Given the description of an element on the screen output the (x, y) to click on. 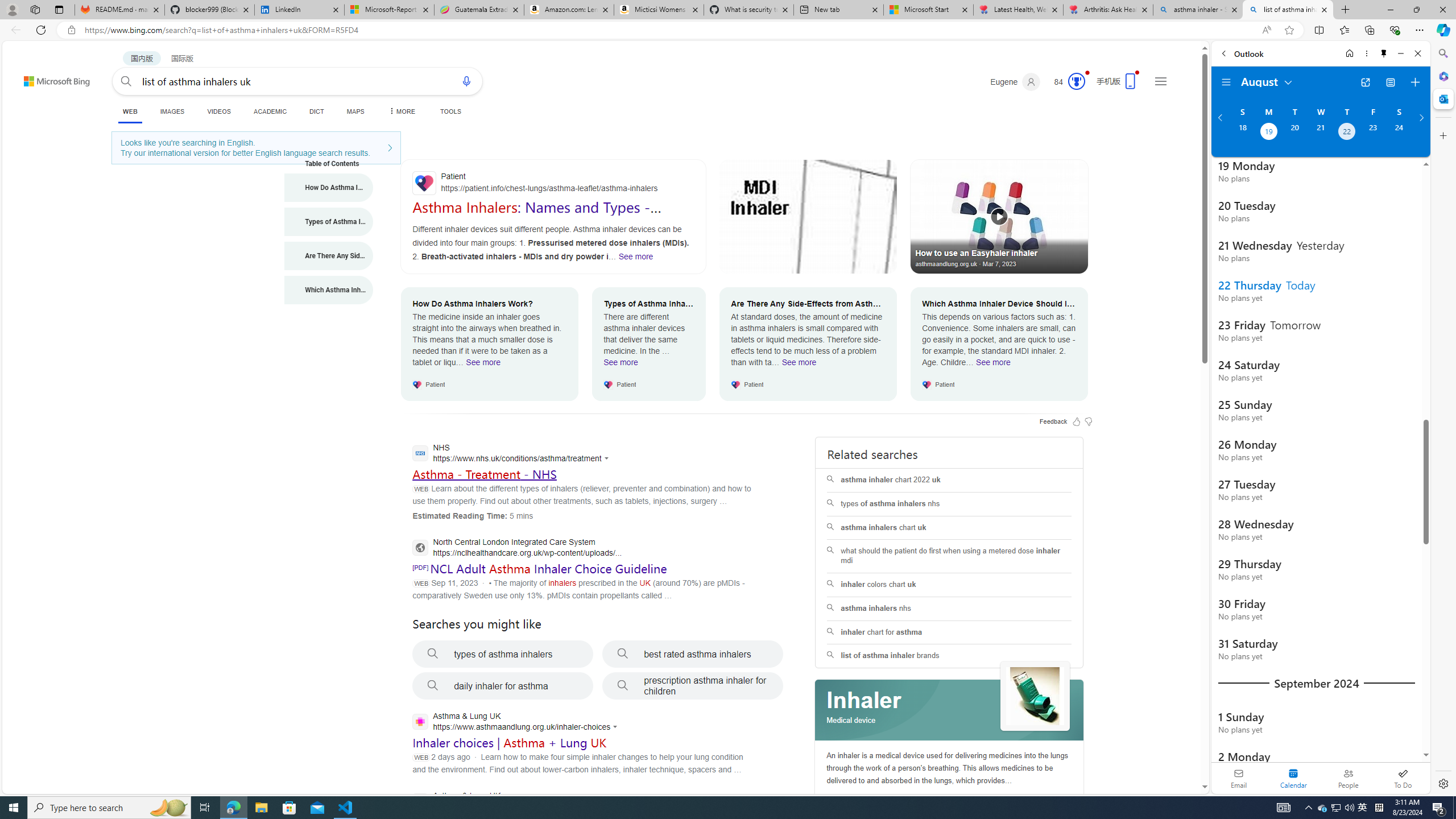
Asthma - Treatment - NHS (484, 473)
asthma inhaler - Search (1197, 9)
Feedback Like (1076, 420)
Asthma & Lung UK (513, 802)
Global web icon (420, 721)
VIDEOS (218, 111)
Sunday, August 18, 2024.  (1242, 132)
NHS (513, 454)
